Given the description of an element on the screen output the (x, y) to click on. 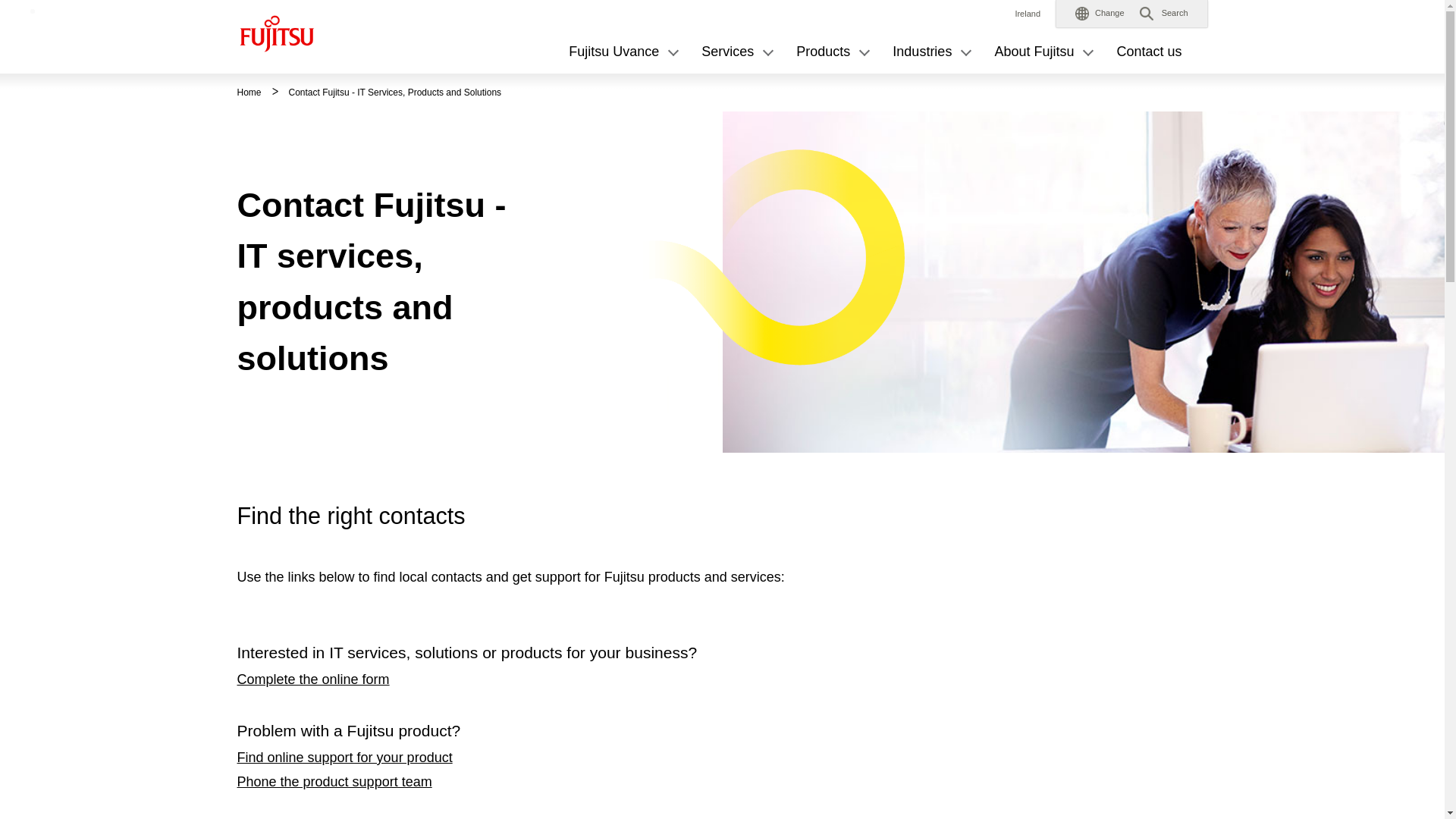
Change (1099, 13)
